Given the description of an element on the screen output the (x, y) to click on. 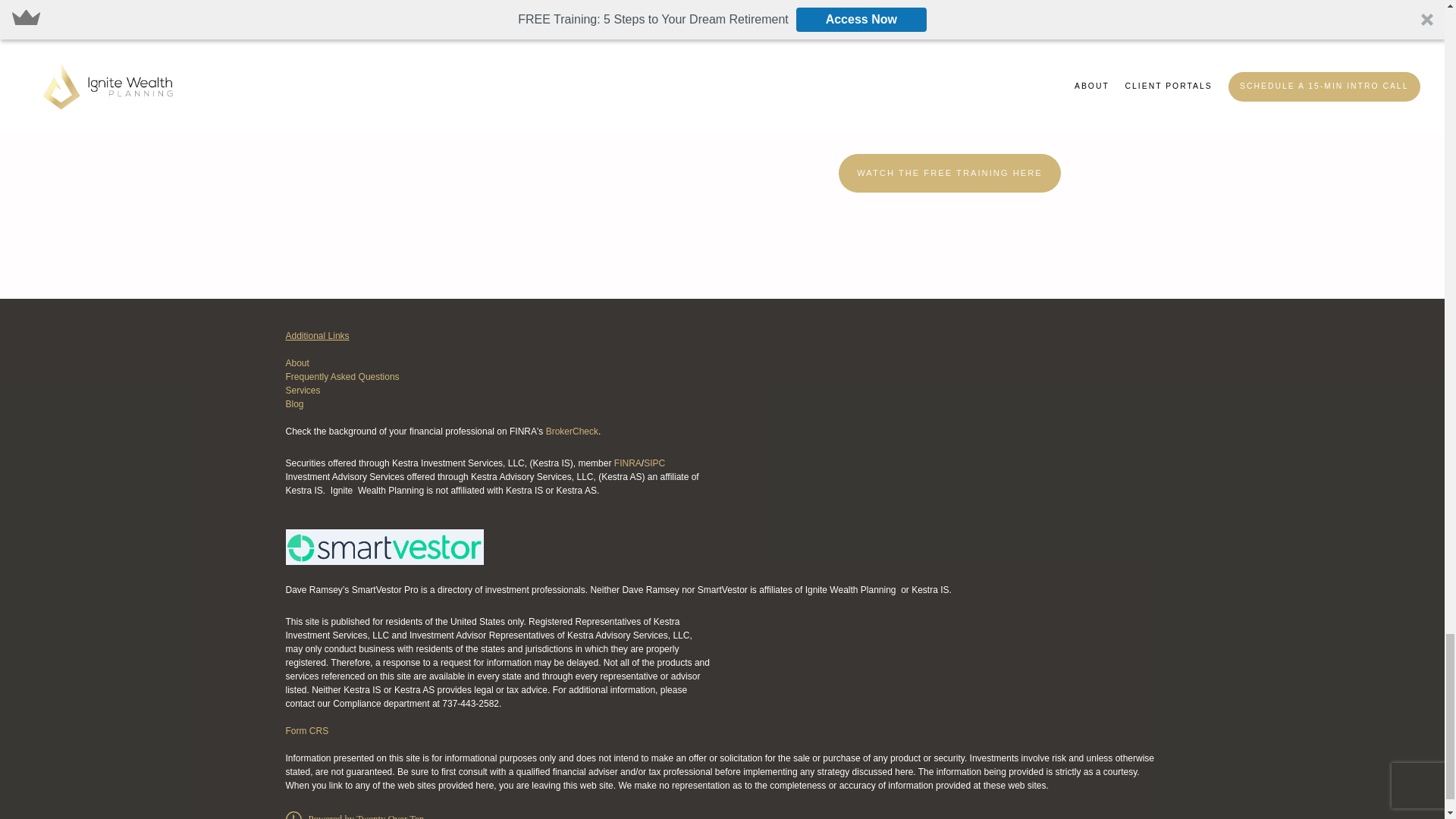
BrokerCheck (572, 430)
Blog (293, 403)
Frequently Asked Questions (341, 376)
Form CRS (307, 730)
WATCH THE FREE TRAINING HERE (949, 173)
Services (302, 389)
FINRA (628, 462)
SIPC (654, 462)
About (296, 362)
